Given the description of an element on the screen output the (x, y) to click on. 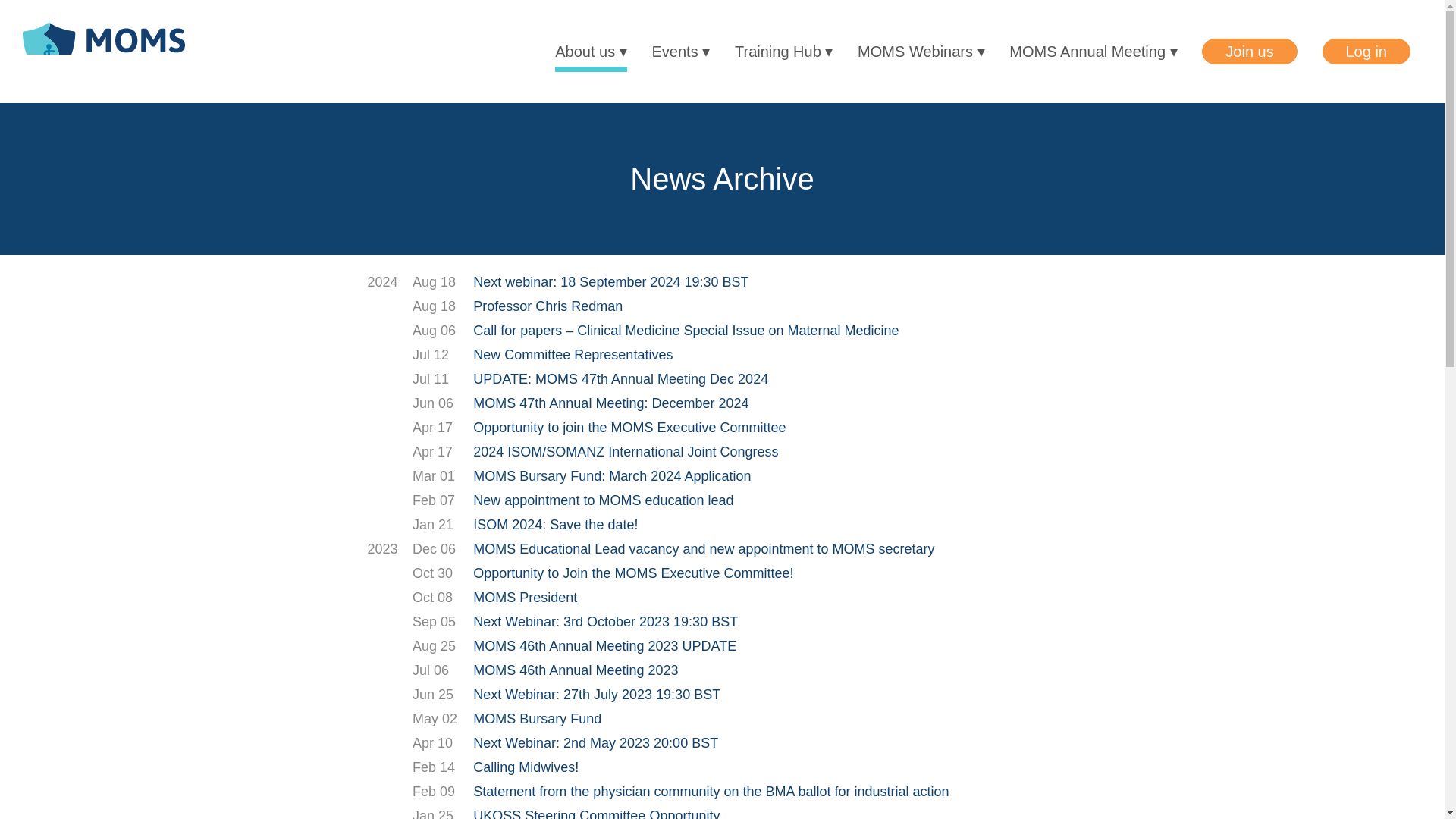
MOMS Webinars (920, 51)
Join us (1249, 51)
Events (681, 51)
New Committee Representatives (572, 354)
MOMS Annual Meeting (1092, 51)
Next webinar: 18 September 2024 19:30 BST (610, 281)
Professor Chris Redman (548, 305)
Log in (1366, 51)
Training Hub (783, 51)
About us (590, 51)
